Given the description of an element on the screen output the (x, y) to click on. 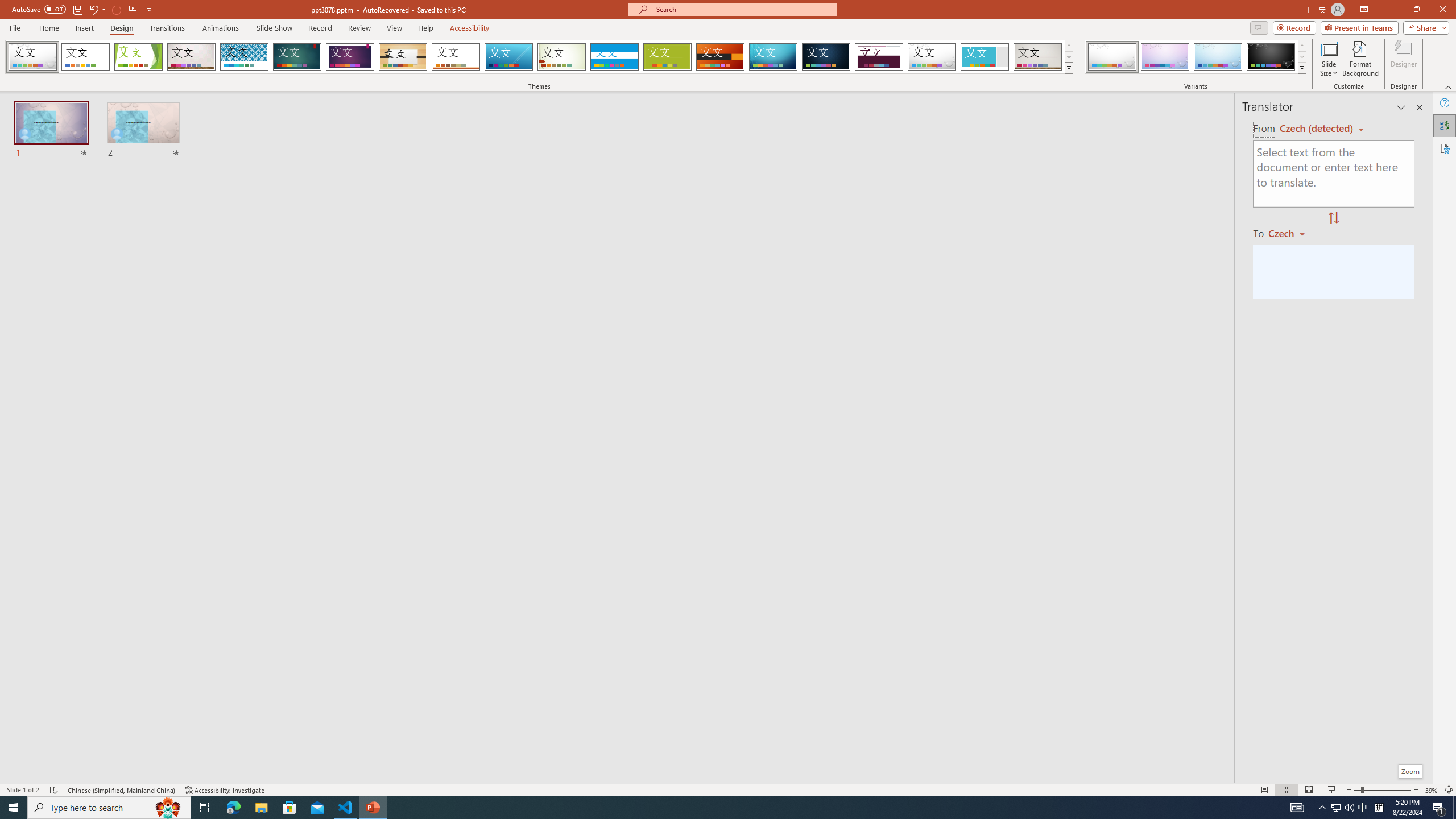
Wisp (561, 56)
Circuit (772, 56)
Damask (826, 56)
